Given the description of an element on the screen output the (x, y) to click on. 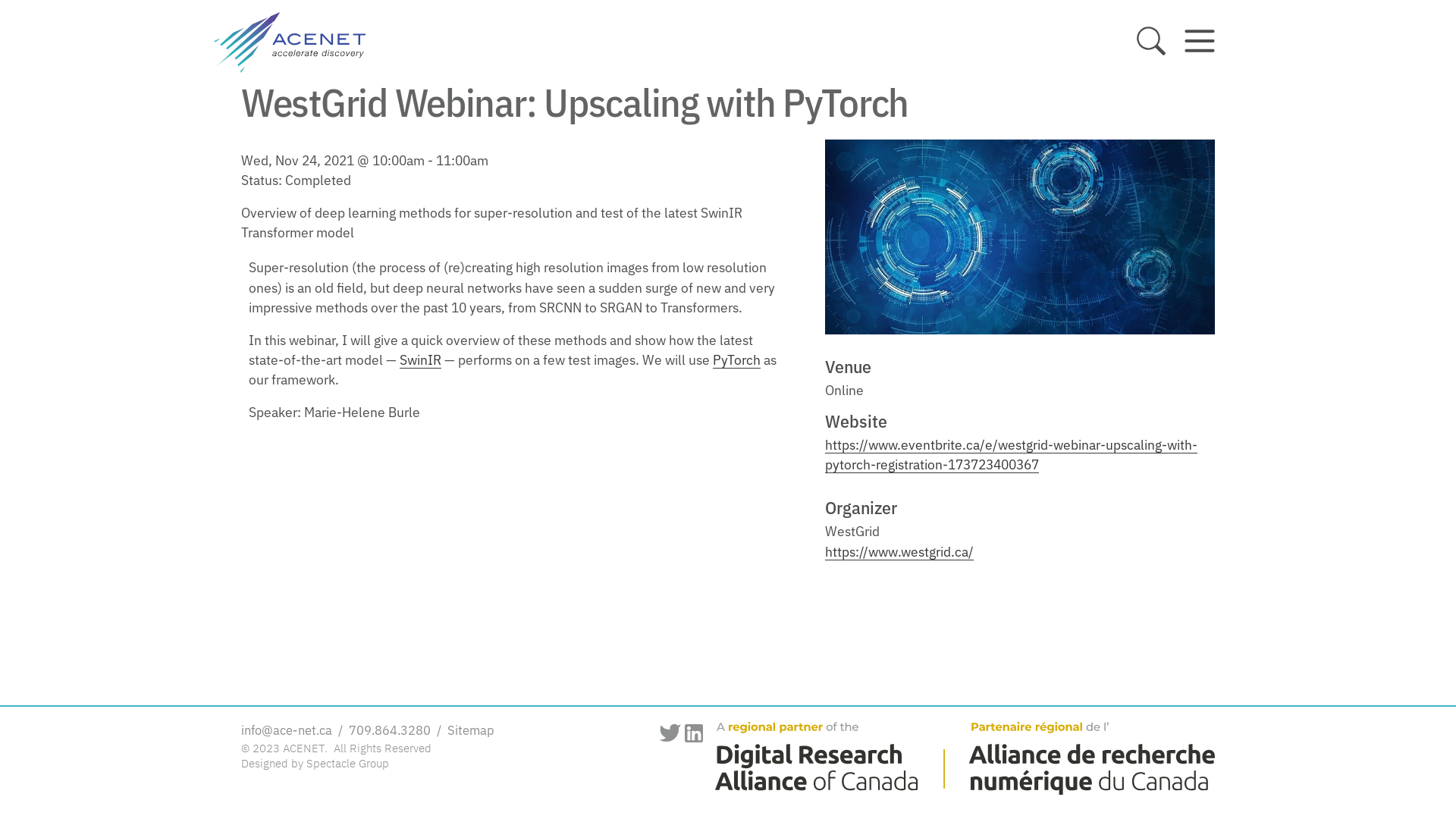
Designed by Spectacle Group Element type: text (315, 764)
SwinIR Element type: text (420, 361)
info@ace-net.ca Element type: text (288, 730)
709.864.3280 Element type: text (389, 730)
PyTorch Element type: text (736, 361)
https://www.westgrid.ca/ Element type: text (899, 553)
Digital Research Alliance of Canada Element type: hover (958, 757)
Sitemap Element type: text (469, 730)
